Given the description of an element on the screen output the (x, y) to click on. 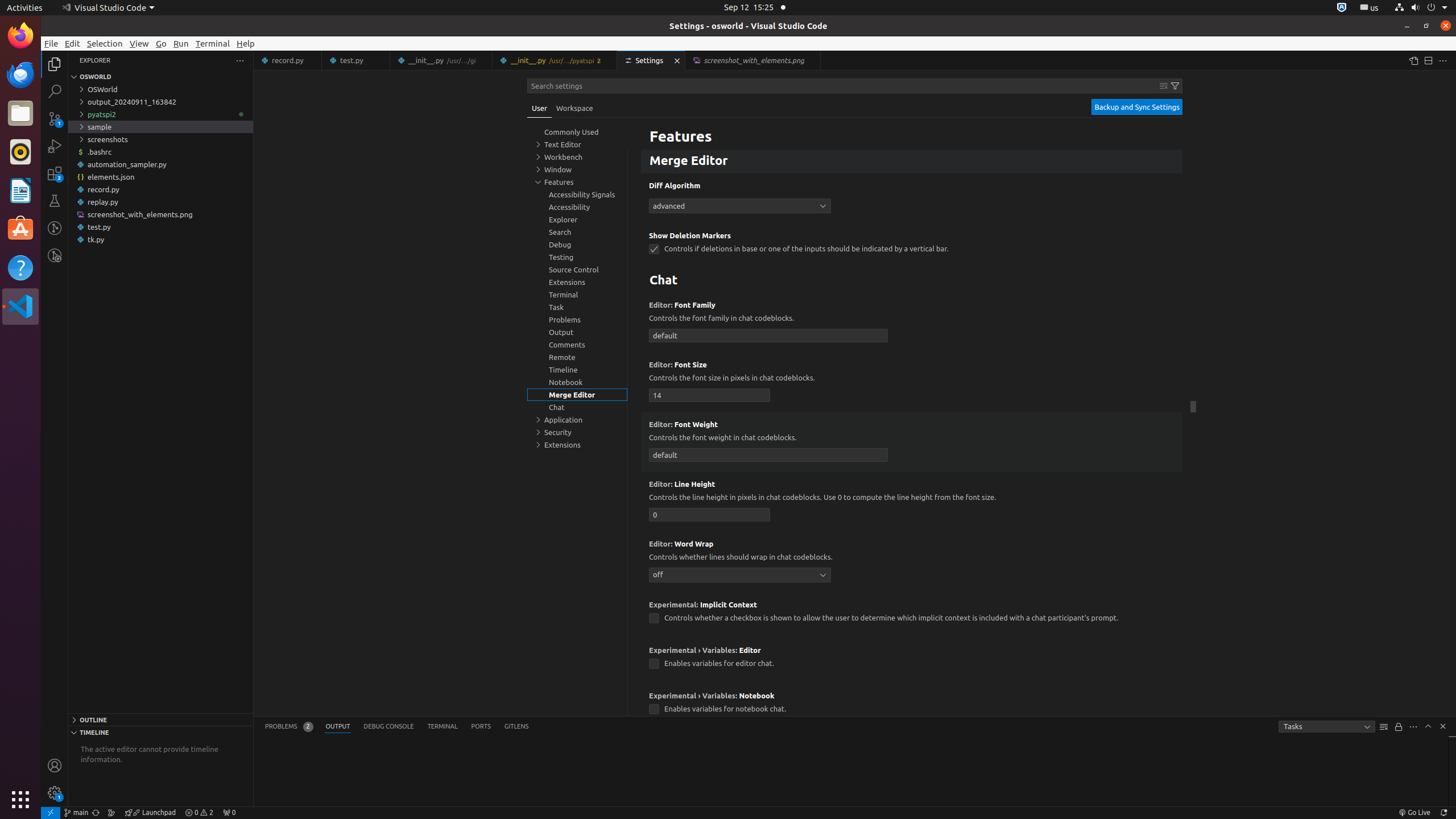
broadcast Go Live, Click to run live server Element type: push-button (1414, 812)
Experimental Implicit Context. Controls whether a checkbox is shown to allow the user to determine which implicit context is included with a chat participant's prompt.  Element type: tree-item (911, 615)
Output (Ctrl+K Ctrl+H) Element type: page-tab (337, 726)
interactiveWindow.showExecutionHint Element type: check-box (653, 129)
